Given the description of an element on the screen output the (x, y) to click on. 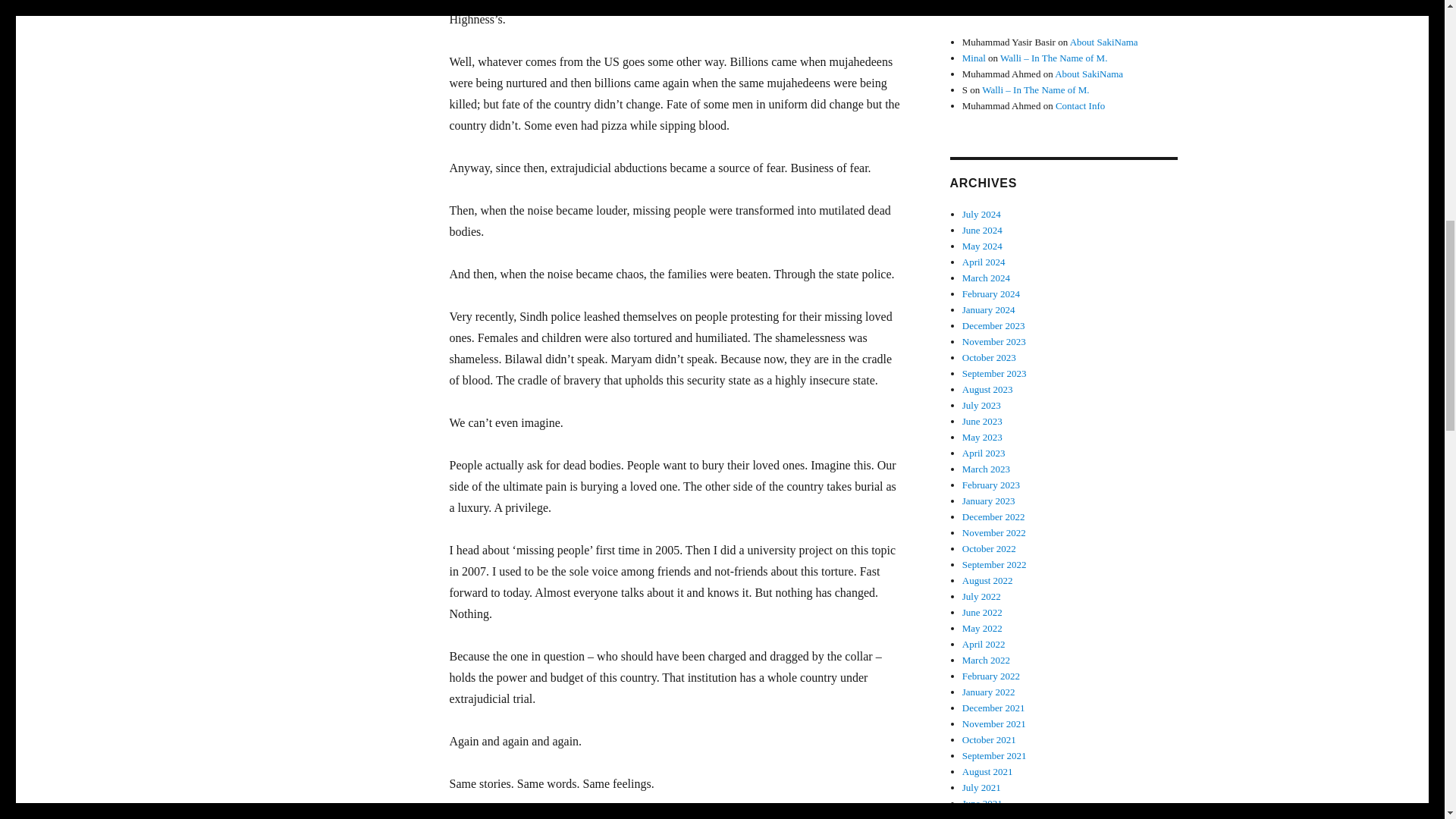
About SakiNama (1088, 73)
February 2024 (991, 293)
Contact Info (1080, 105)
May 2024 (982, 245)
July 2024 (981, 214)
About SakiNama (1104, 41)
March 2024 (986, 277)
June 2024 (982, 229)
April 2024 (984, 261)
Minal (973, 57)
